Given the description of an element on the screen output the (x, y) to click on. 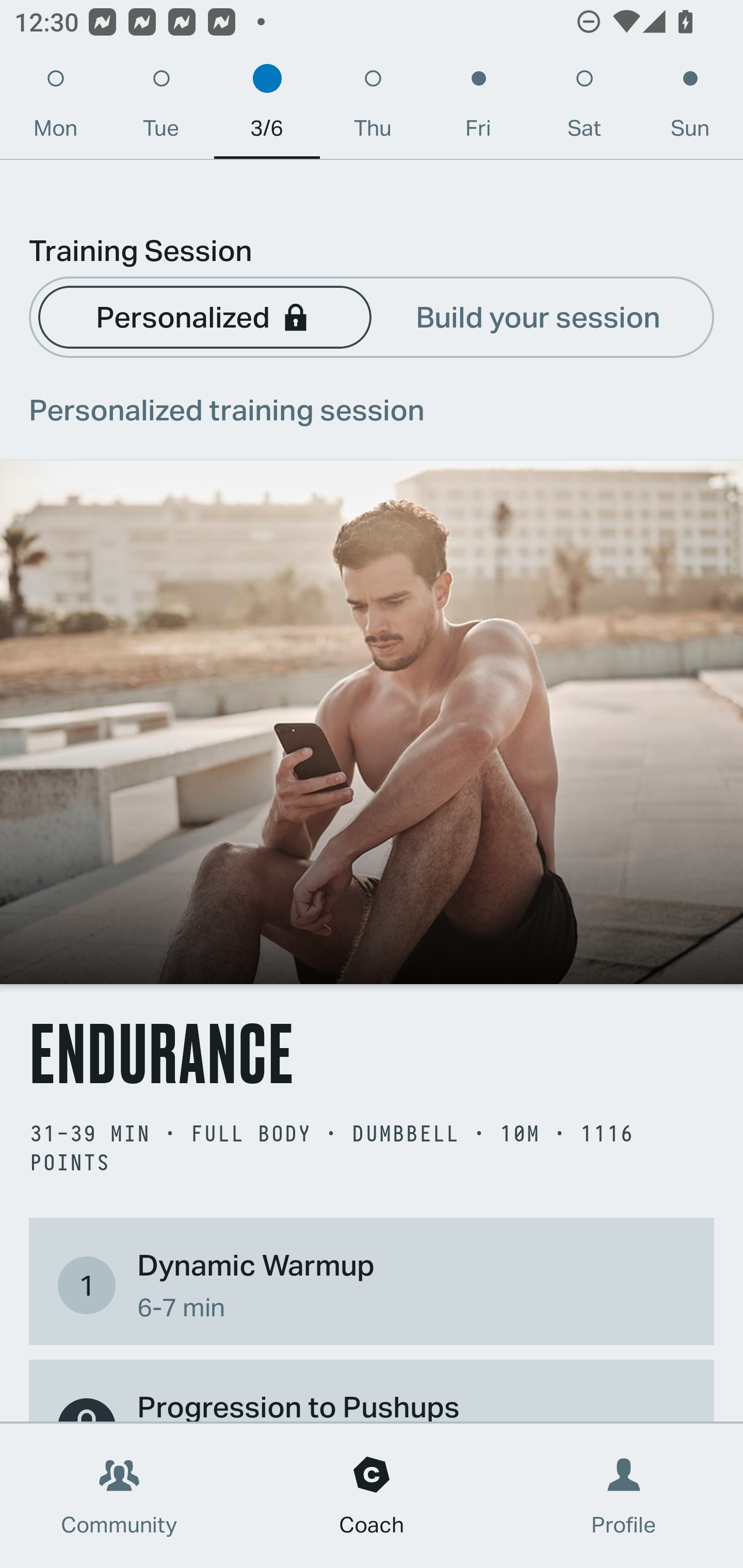
Mon (55, 108)
Tue (160, 108)
3/6 (266, 108)
Thu (372, 108)
Fri (478, 108)
Sat (584, 108)
Sun (690, 108)
Personalized (204, 315)
Build your session (538, 315)
1 Dynamic Warmup 6-7 min (371, 1284)
Community (119, 1495)
Profile (624, 1495)
